Given the description of an element on the screen output the (x, y) to click on. 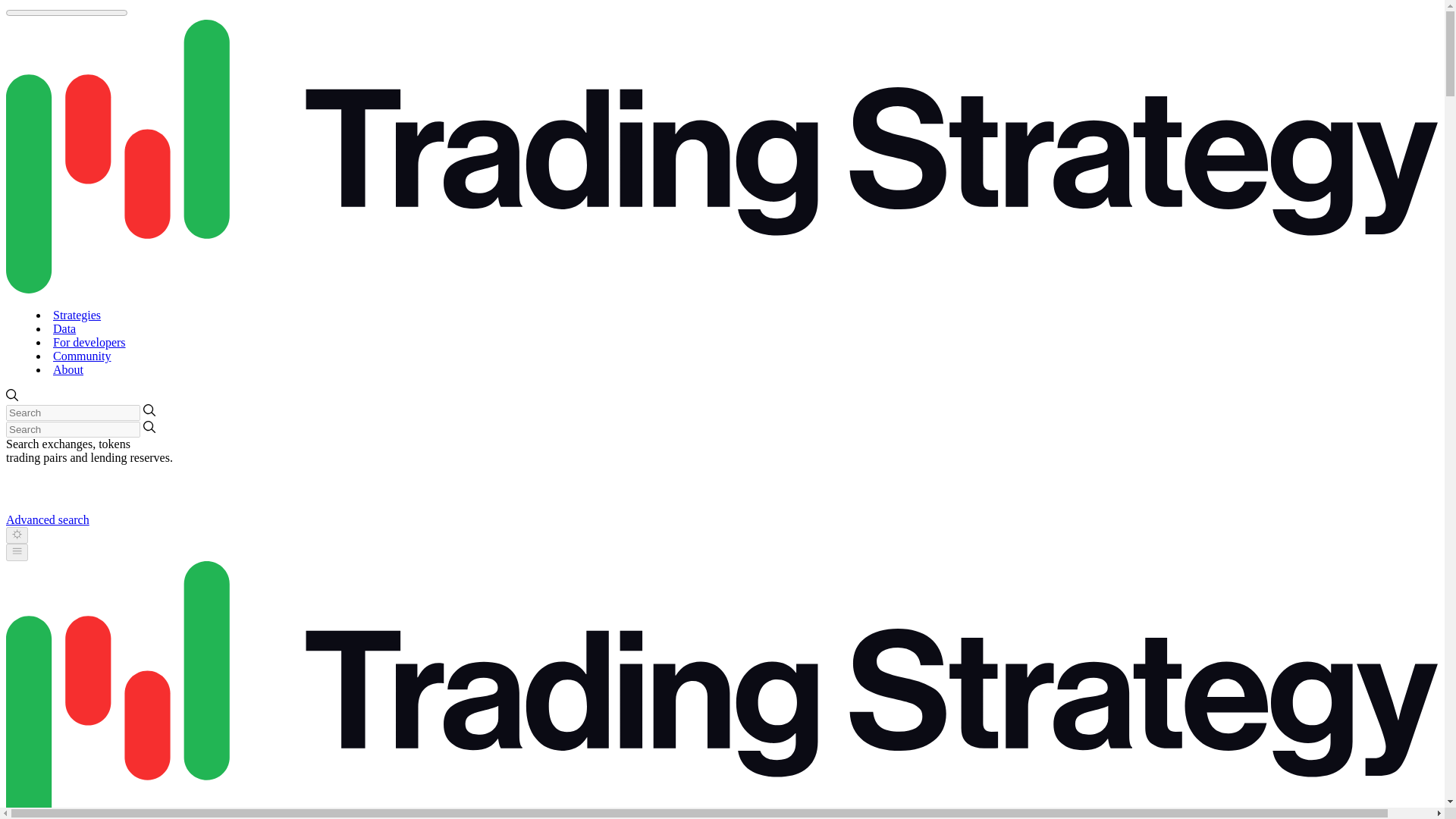
Select color mode (16, 535)
For developers (88, 341)
Data (63, 328)
Advanced search (46, 519)
Strategies (76, 314)
Community (81, 355)
About (67, 369)
